Given the description of an element on the screen output the (x, y) to click on. 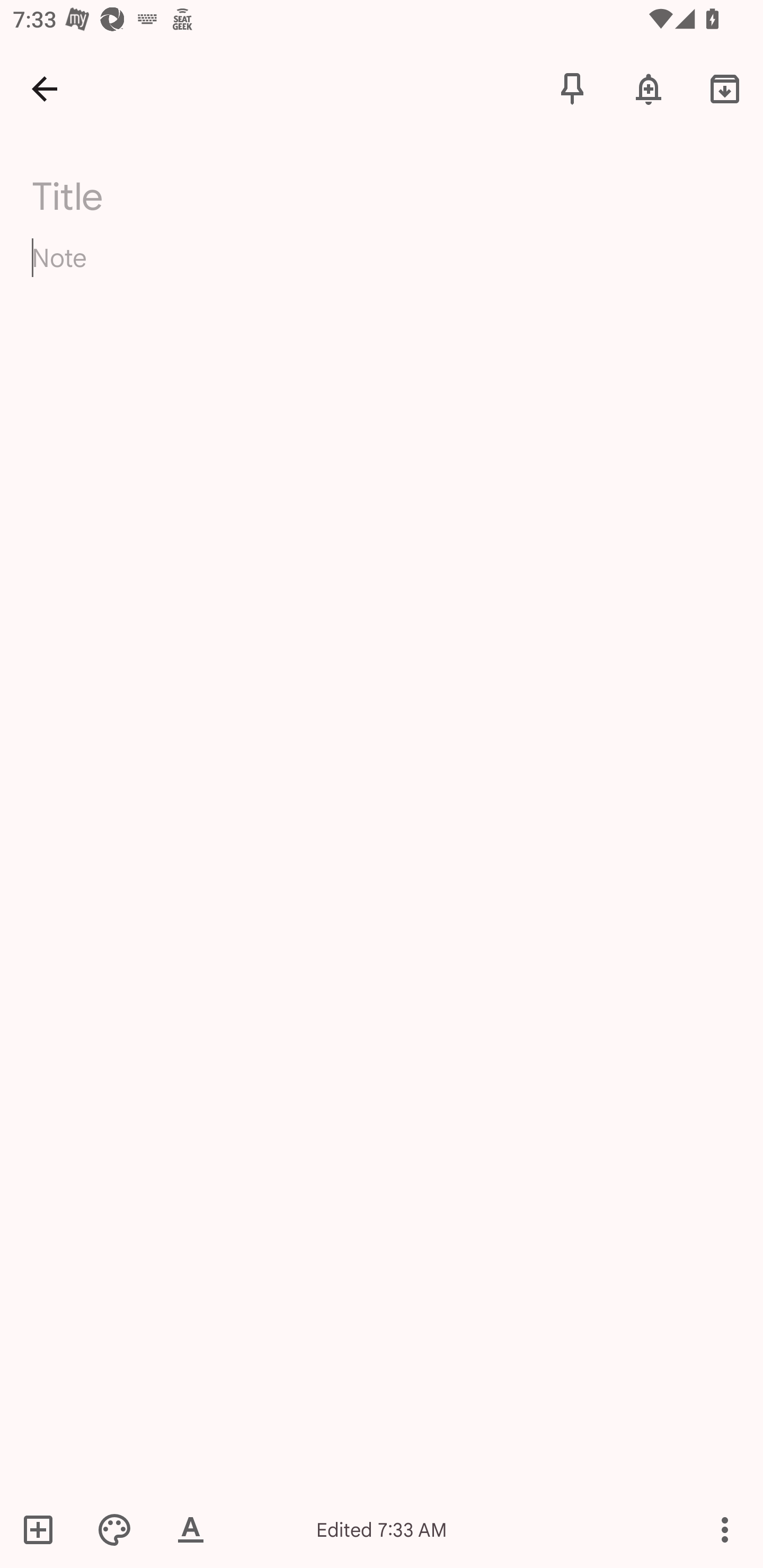
Navigate up (44, 88)
Pin (572, 88)
Reminder (648, 88)
Archive (724, 88)
.  (193, 192)
Note (381, 273)
New list (44, 1529)
Theme (114, 1529)
Show formatting controls (190, 1529)
Action (724, 1529)
